Given the description of an element on the screen output the (x, y) to click on. 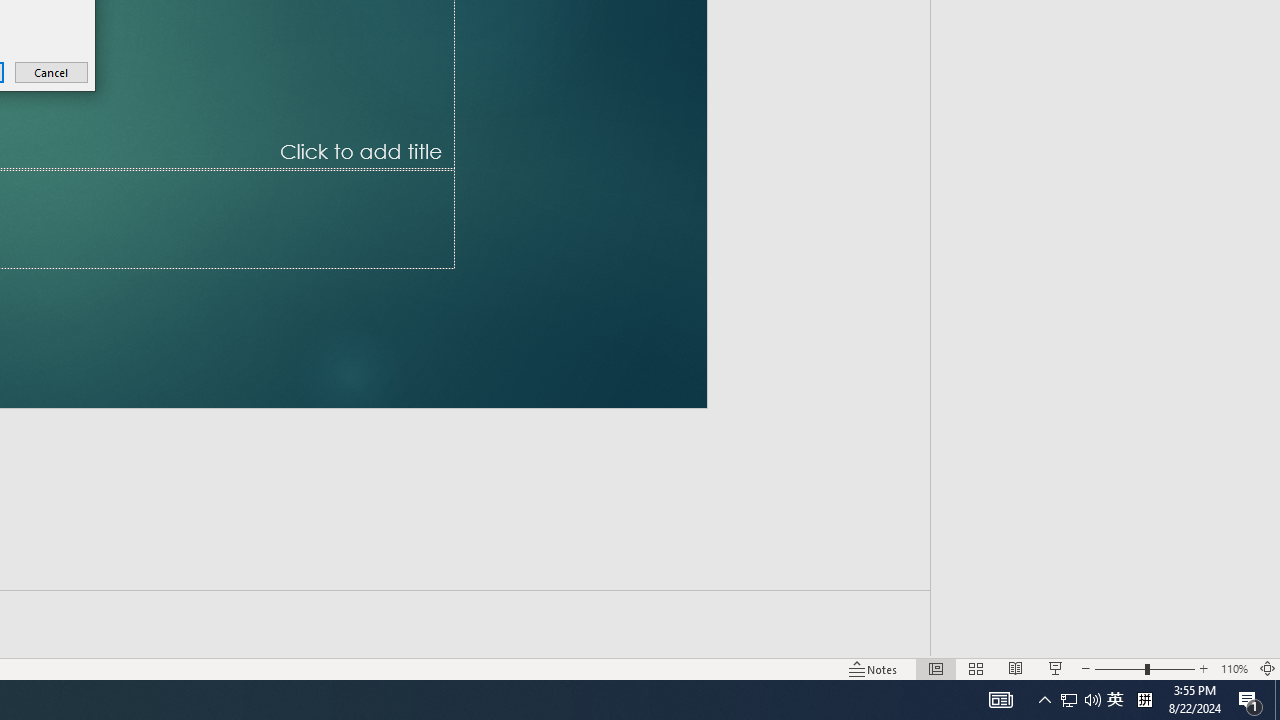
Cancel (51, 72)
Zoom 110% (1234, 668)
Action Center, 1 new notification (1250, 699)
